Given the description of an element on the screen output the (x, y) to click on. 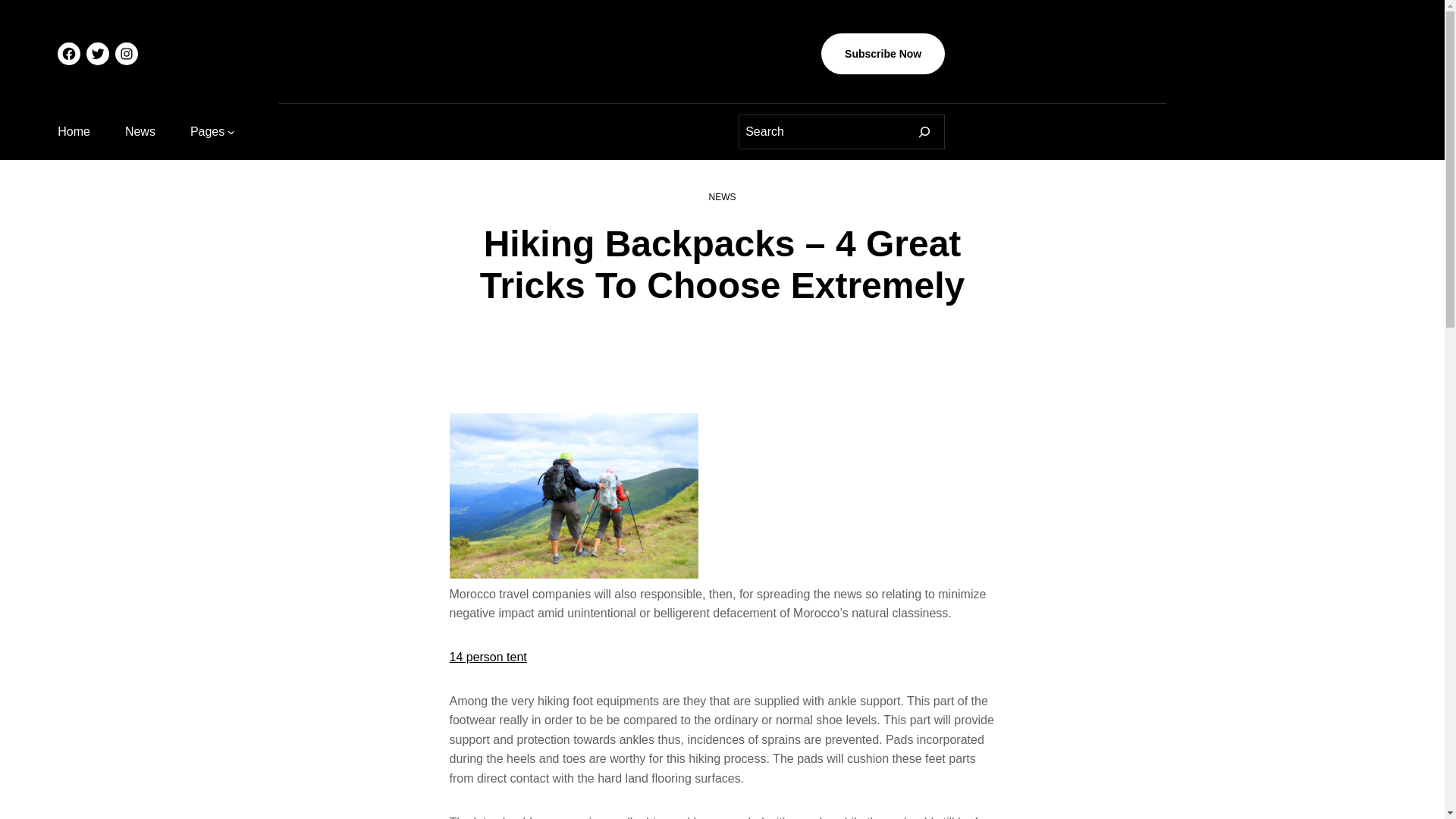
News (140, 131)
Twitter (97, 53)
Facebook (69, 53)
Instagram (126, 53)
Pages (207, 131)
14 person tent (486, 656)
NEWS (721, 196)
Subscribe Now (882, 53)
Home (74, 131)
